Given the description of an element on the screen output the (x, y) to click on. 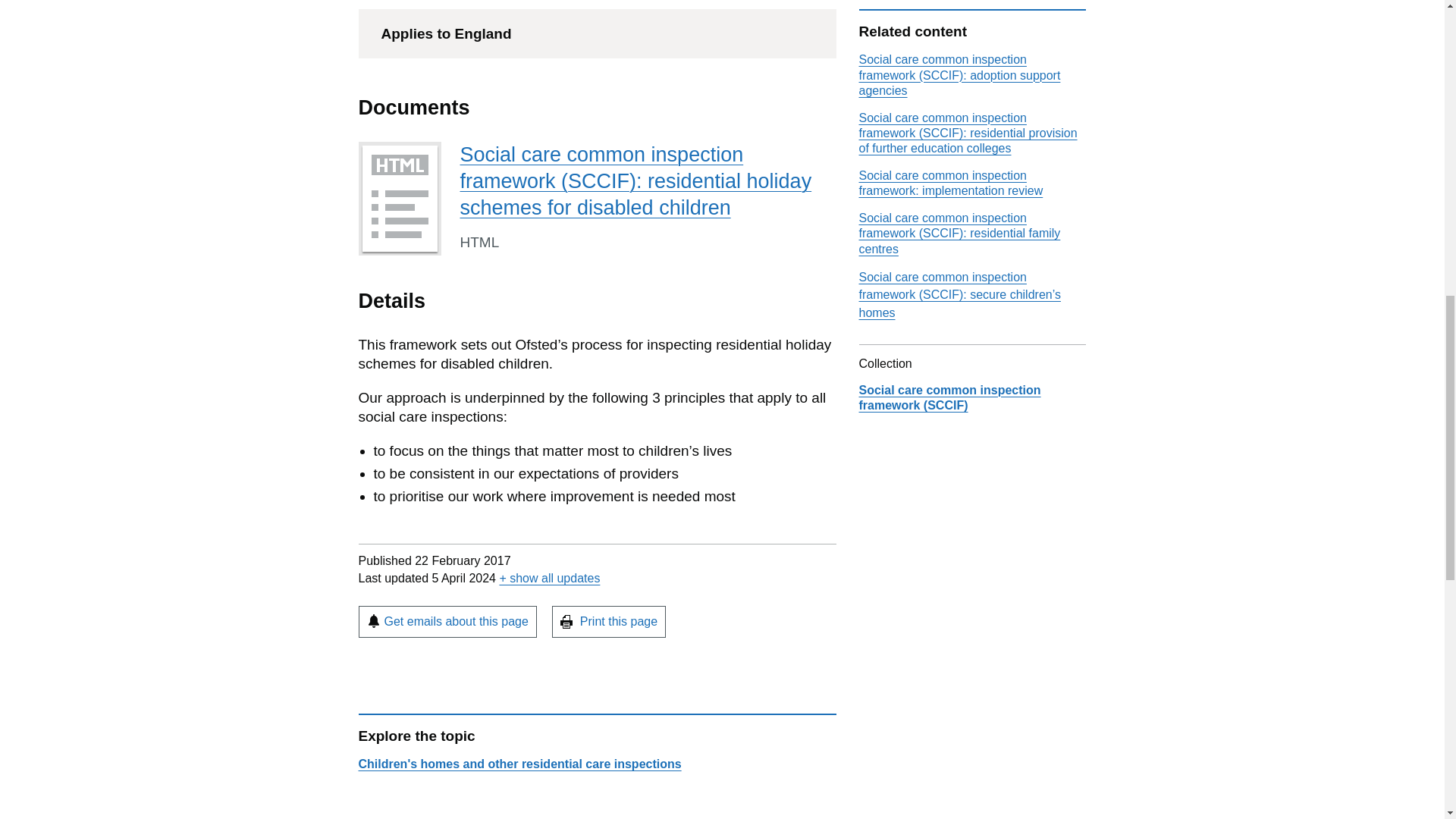
Print this page (608, 622)
Children's homes and other residential care inspections (519, 763)
Get emails about this page (446, 622)
